Given the description of an element on the screen output the (x, y) to click on. 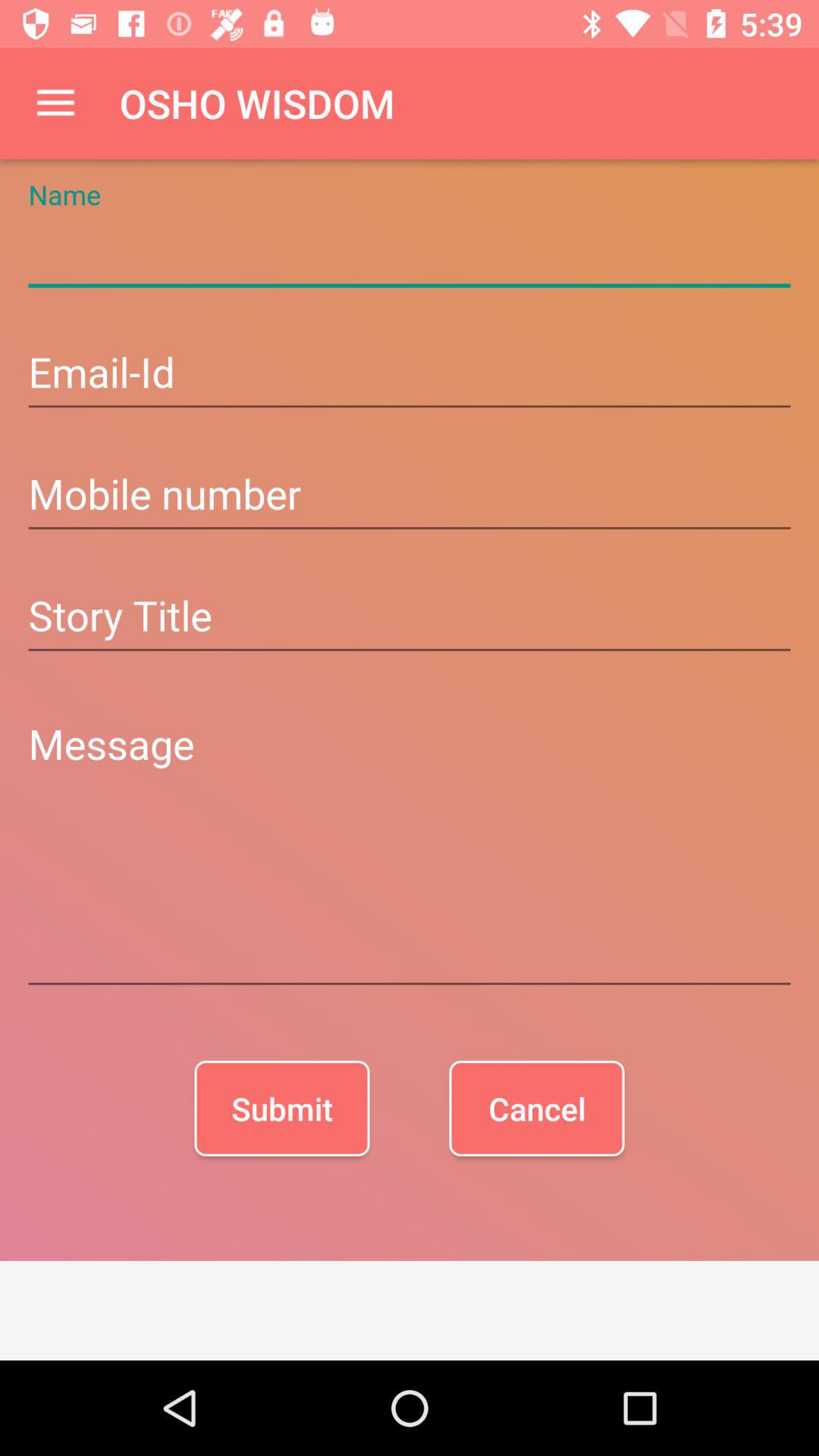
name (409, 252)
